Given the description of an element on the screen output the (x, y) to click on. 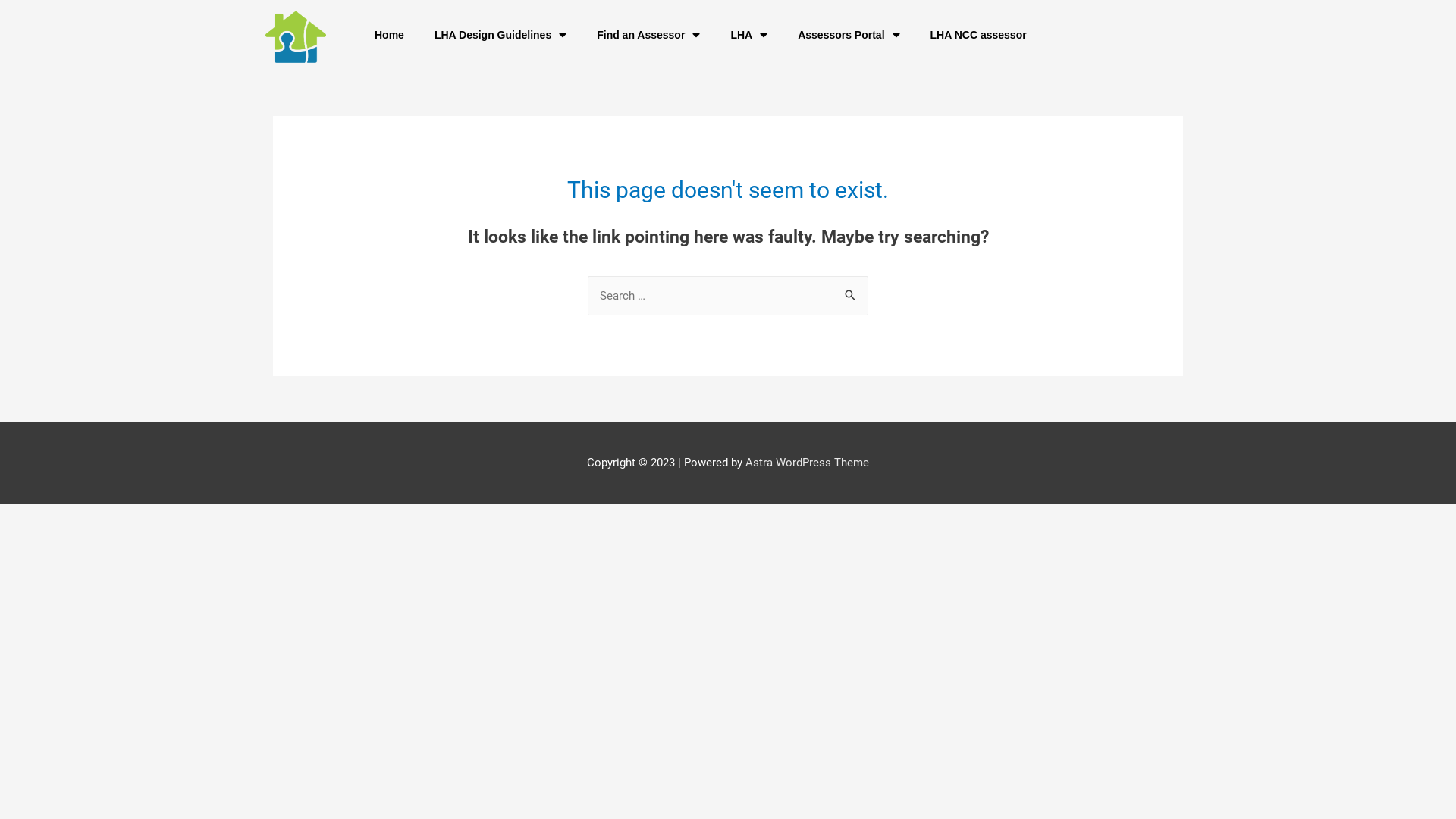
Find an Assessor Element type: text (648, 34)
Home Element type: text (389, 34)
Search Element type: text (851, 291)
LHA Element type: text (748, 34)
Assessors Portal Element type: text (848, 34)
LHA NCC assessor Element type: text (978, 34)
LHA Design Guidelines Element type: text (500, 34)
Astra WordPress Theme Element type: text (807, 462)
